Given the description of an element on the screen output the (x, y) to click on. 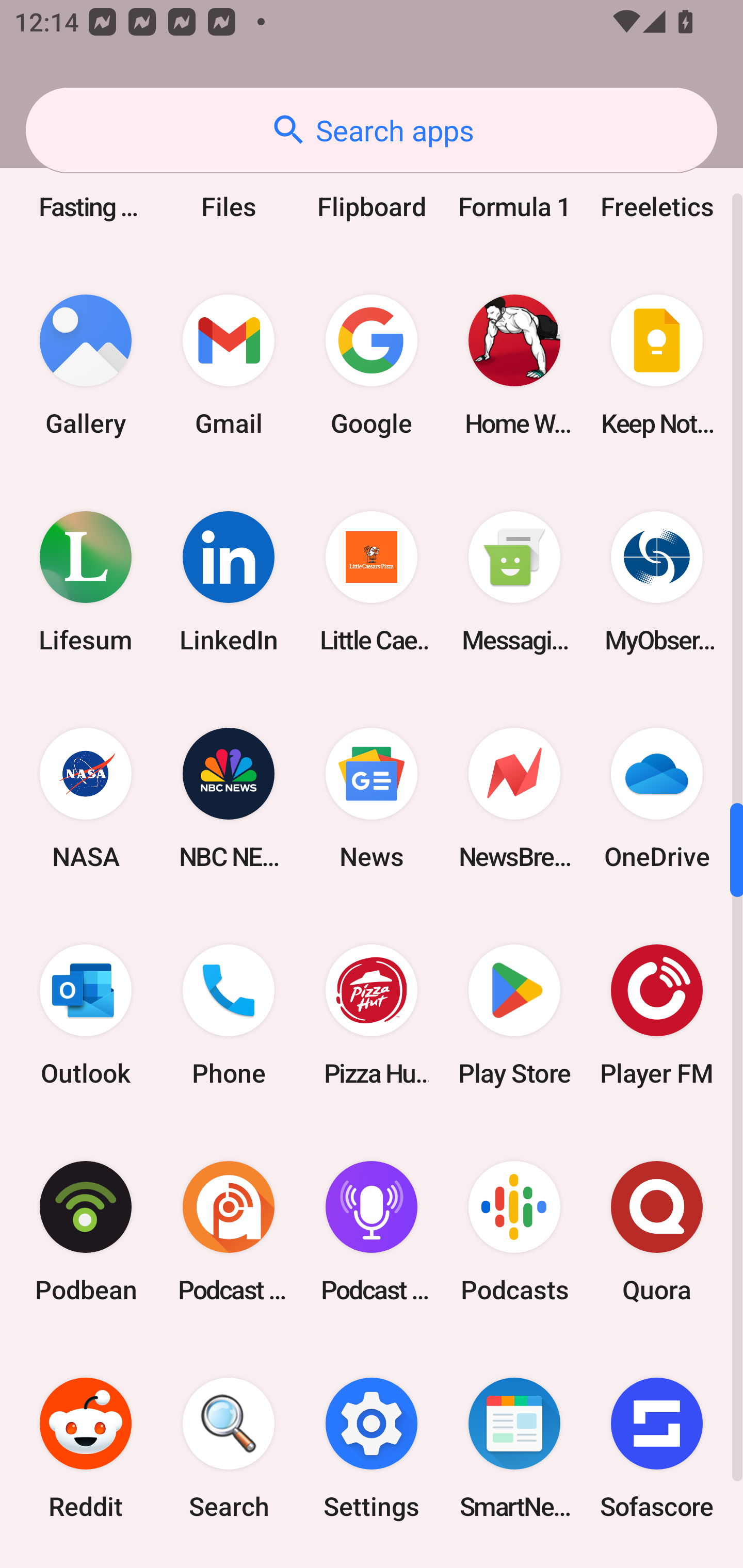
  Search apps (371, 130)
Gallery (85, 365)
Gmail (228, 365)
Google (371, 365)
Home Workout (514, 365)
Keep Notes (656, 365)
Lifesum (85, 581)
LinkedIn (228, 581)
Little Caesars Pizza (371, 581)
Messaging (514, 581)
MyObservatory (656, 581)
NASA (85, 797)
NBC NEWS (228, 797)
News (371, 797)
NewsBreak (514, 797)
OneDrive (656, 797)
Outlook (85, 1014)
Phone (228, 1014)
Pizza Hut HK & Macau (371, 1014)
Play Store (514, 1014)
Player FM (656, 1014)
Podbean (85, 1231)
Podcast Addict (228, 1231)
Podcast Player (371, 1231)
Podcasts (514, 1231)
Quora (656, 1231)
Reddit (85, 1448)
Search (228, 1448)
Settings (371, 1448)
SmartNews (514, 1448)
Sofascore (656, 1448)
